Given the description of an element on the screen output the (x, y) to click on. 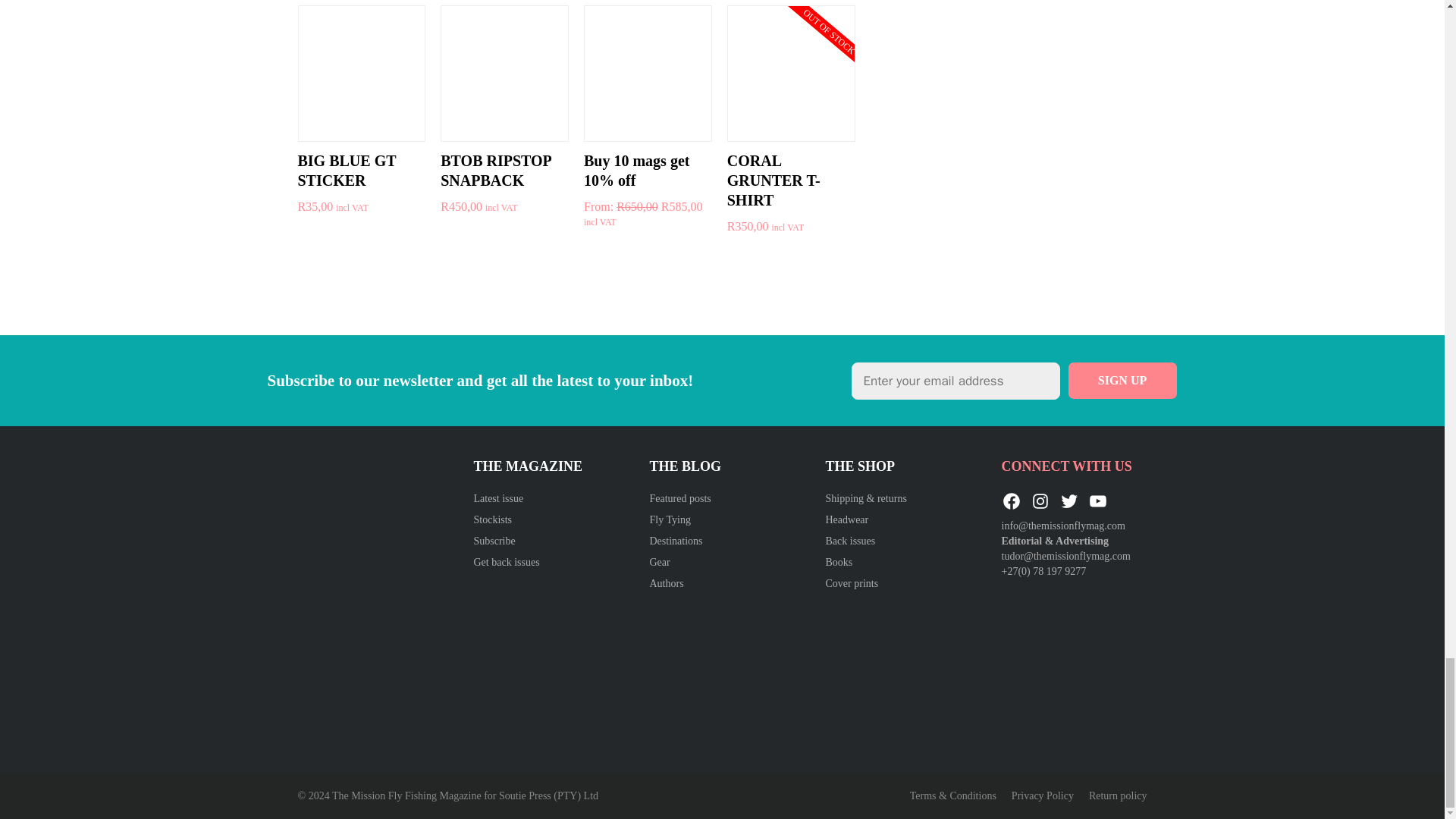
Sign Up (1122, 380)
